Given the description of an element on the screen output the (x, y) to click on. 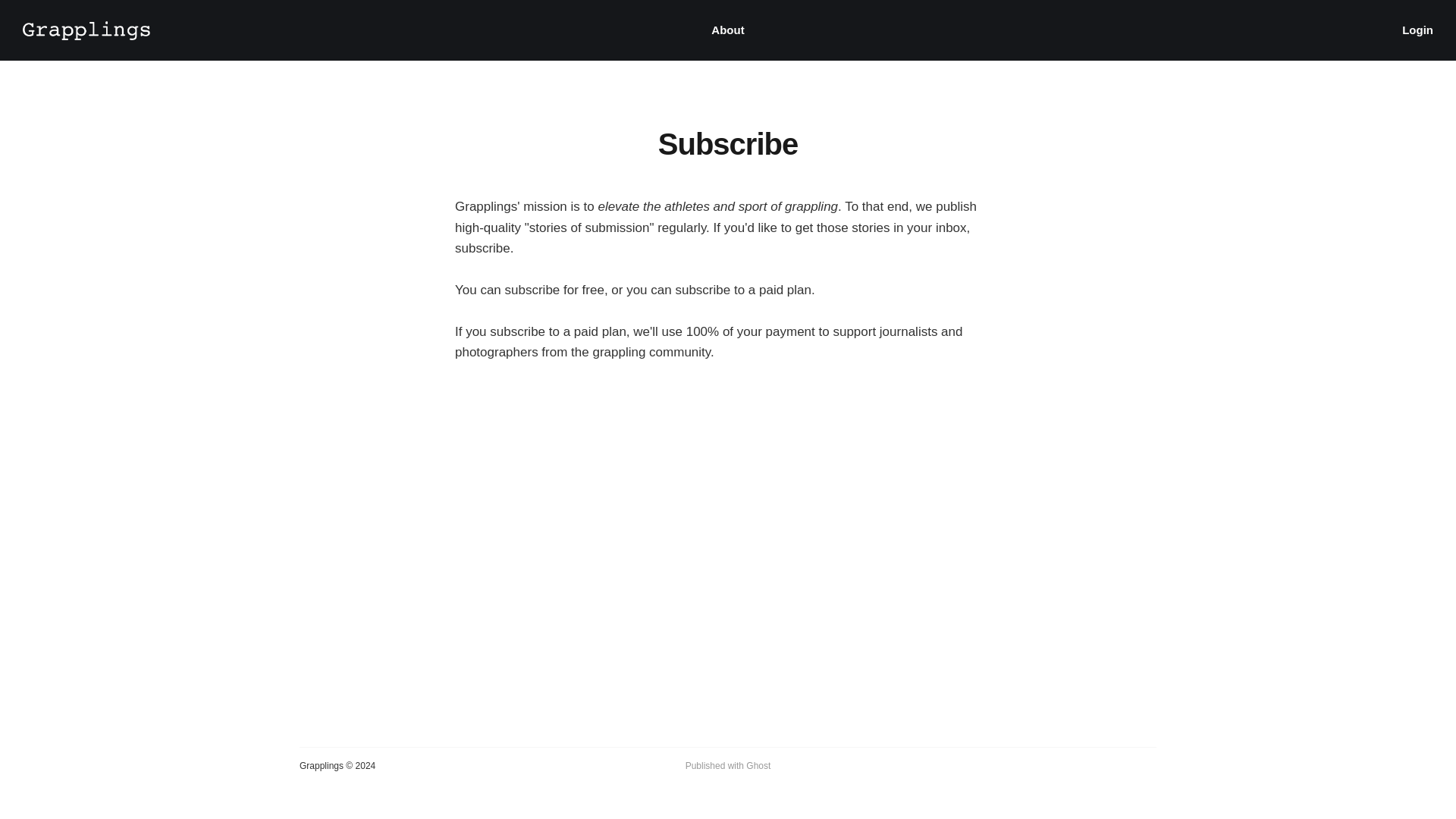
About (727, 30)
Published with Ghost (728, 766)
Login (1417, 30)
